Given the description of an element on the screen output the (x, y) to click on. 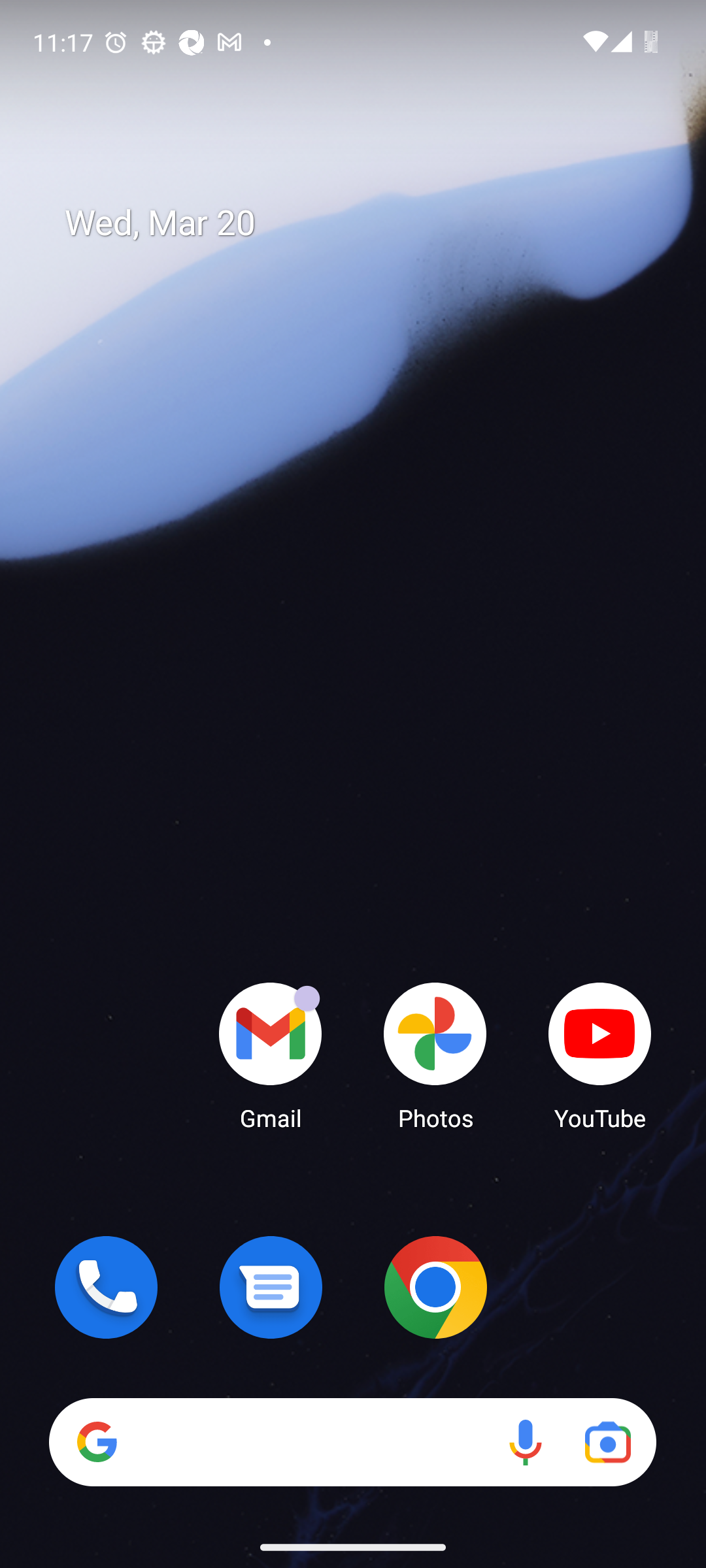
Wed, Mar 20 (366, 234)
Wed, Mar 20 (366, 223)
Gmail Gmail has 22 notifications (270, 1054)
Photos (435, 1054)
YouTube (599, 1054)
Phone (106, 1287)
Messages (270, 1287)
Chrome (435, 1287)
Search Voice search Google Lens (352, 1441)
Voice search (525, 1441)
Google Lens (607, 1441)
